Given the description of an element on the screen output the (x, y) to click on. 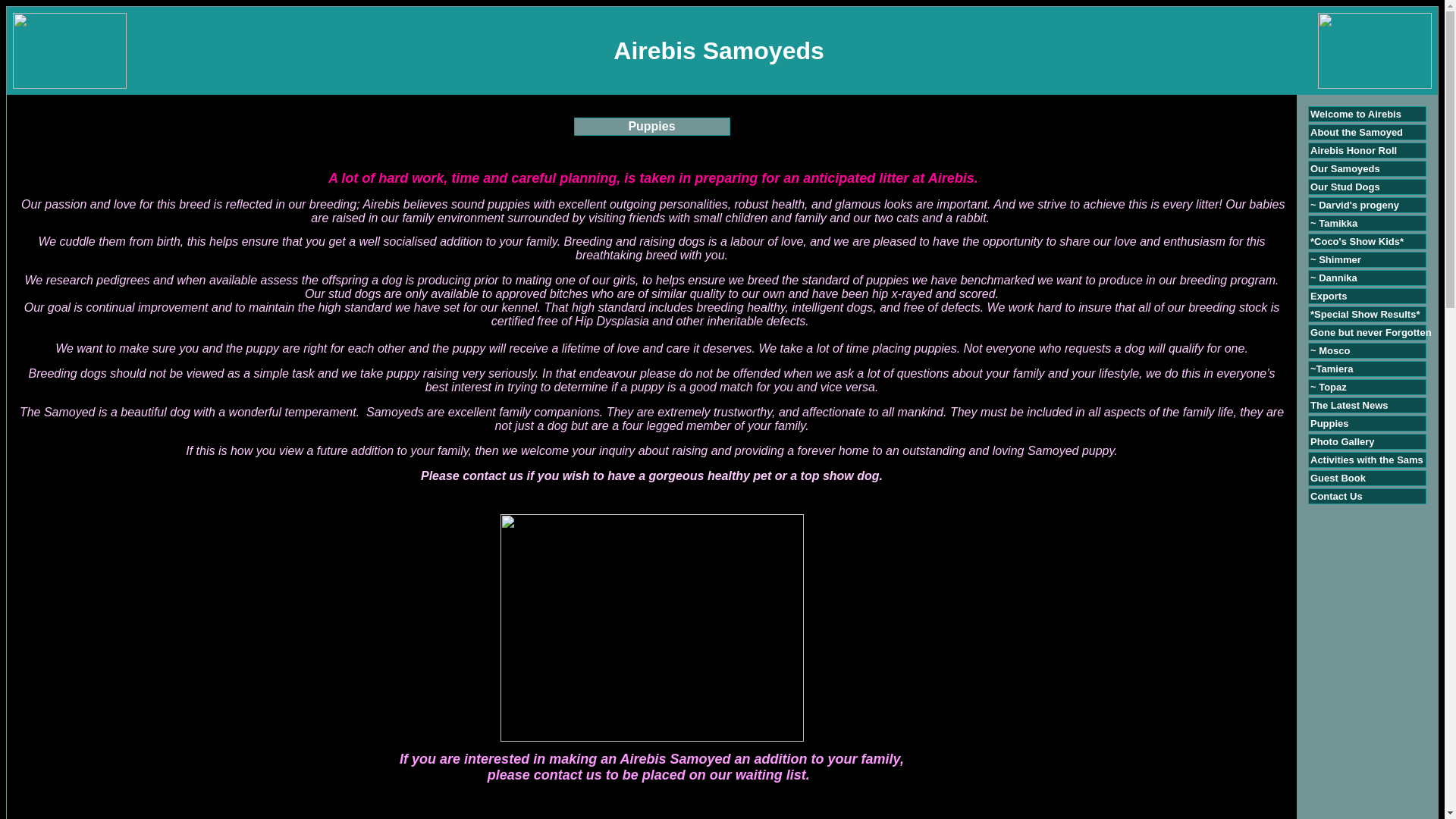
About the Samoyed (1356, 132)
Puppies (1329, 423)
Guest Book (1337, 478)
Exports (1328, 296)
Welcome to Airebis (1355, 113)
Photo Gallery (1342, 441)
Airebis Honor Roll (1353, 150)
The Latest News (1349, 405)
Contact Us (1336, 496)
Activities with the Sams (1366, 460)
